Given the description of an element on the screen output the (x, y) to click on. 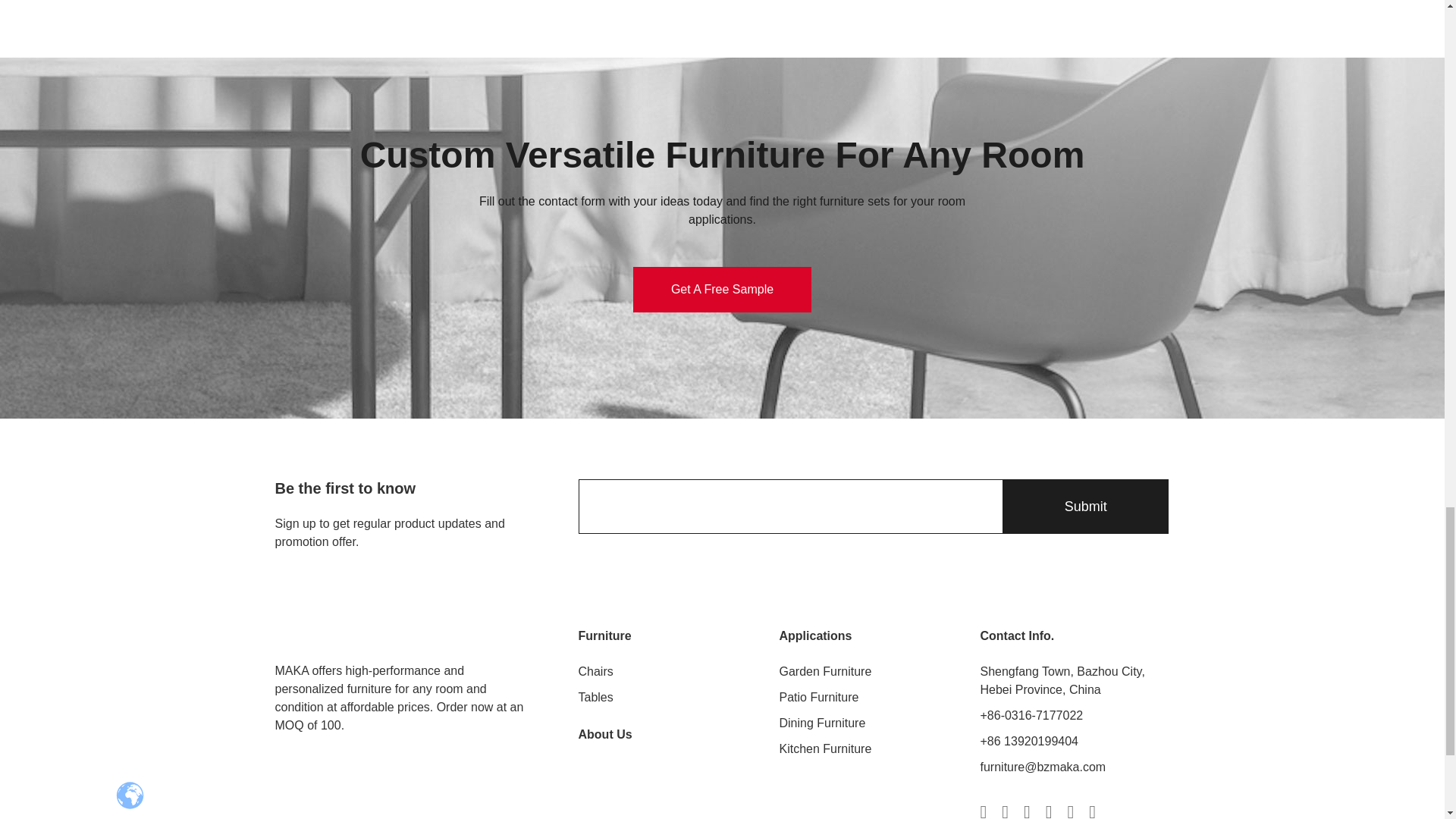
Submit (1085, 506)
Get A Free Sample (721, 289)
Submit (1085, 506)
Furniture (604, 636)
